Given the description of an element on the screen output the (x, y) to click on. 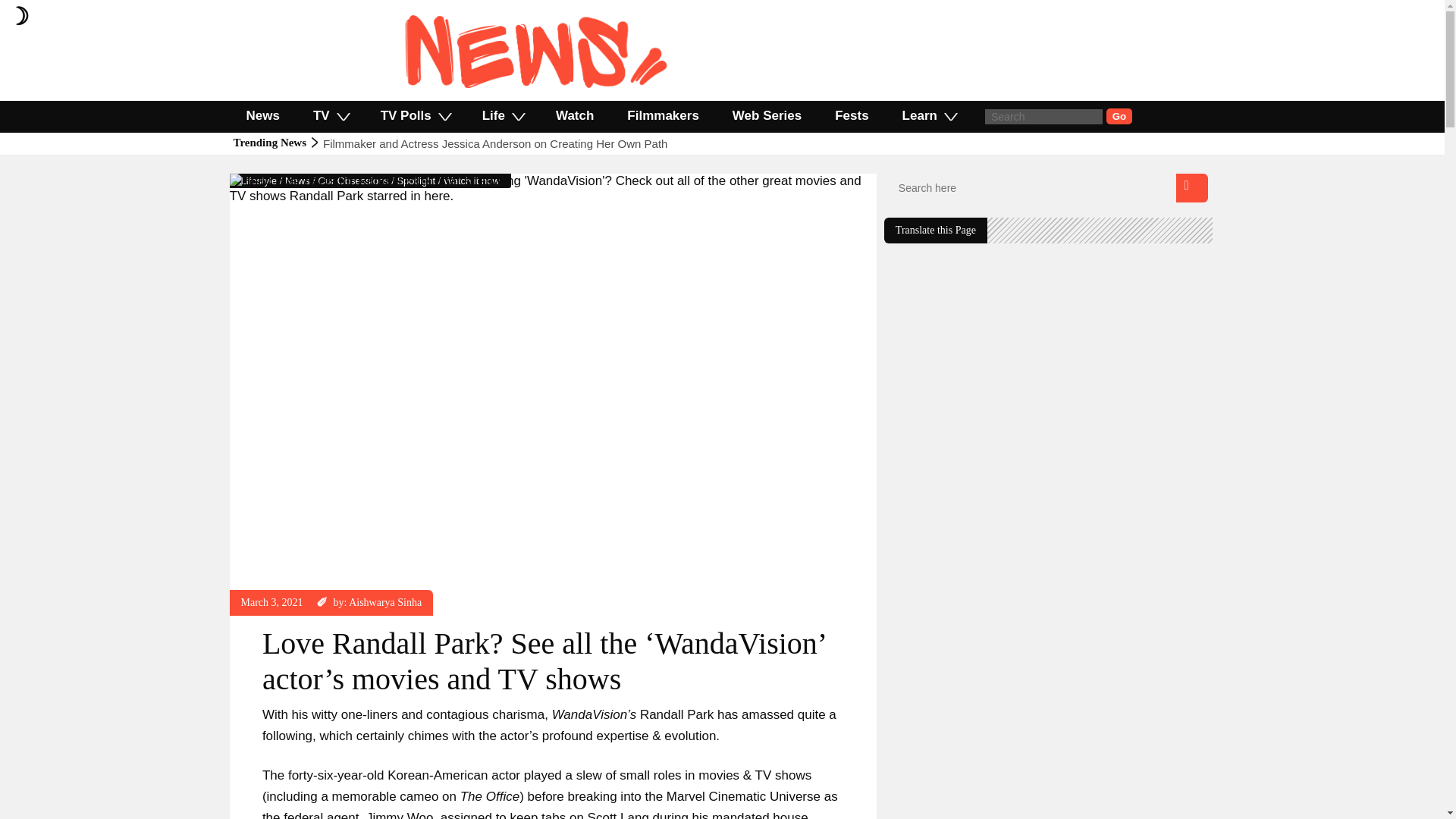
Web Series (767, 115)
News (261, 115)
TV (330, 115)
Life (501, 115)
Go (1119, 116)
News (297, 180)
Learn (928, 115)
TV Polls (414, 115)
Fests (851, 115)
Go (1119, 116)
